Given the description of an element on the screen output the (x, y) to click on. 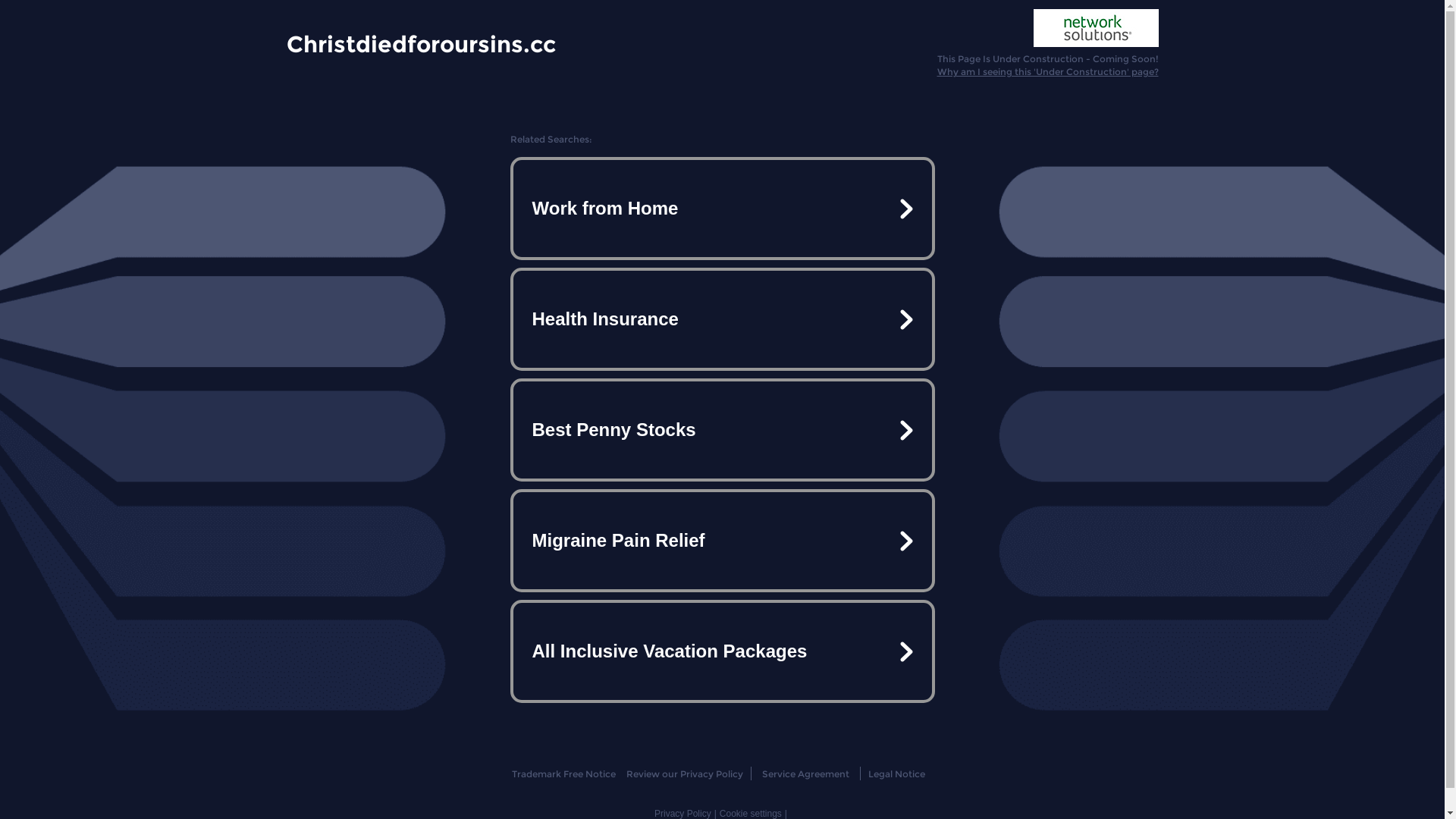
Migraine Pain Relief Element type: text (721, 540)
Service Agreement Element type: text (805, 773)
Best Penny Stocks Element type: text (721, 429)
Health Insurance Element type: text (721, 318)
Christdiedforoursins.cc Element type: text (420, 43)
Legal Notice Element type: text (896, 773)
Work from Home Element type: text (721, 208)
Why am I seeing this 'Under Construction' page? Element type: text (1047, 71)
Trademark Free Notice Element type: text (563, 773)
Review our Privacy Policy Element type: text (684, 773)
All Inclusive Vacation Packages Element type: text (721, 650)
